Given the description of an element on the screen output the (x, y) to click on. 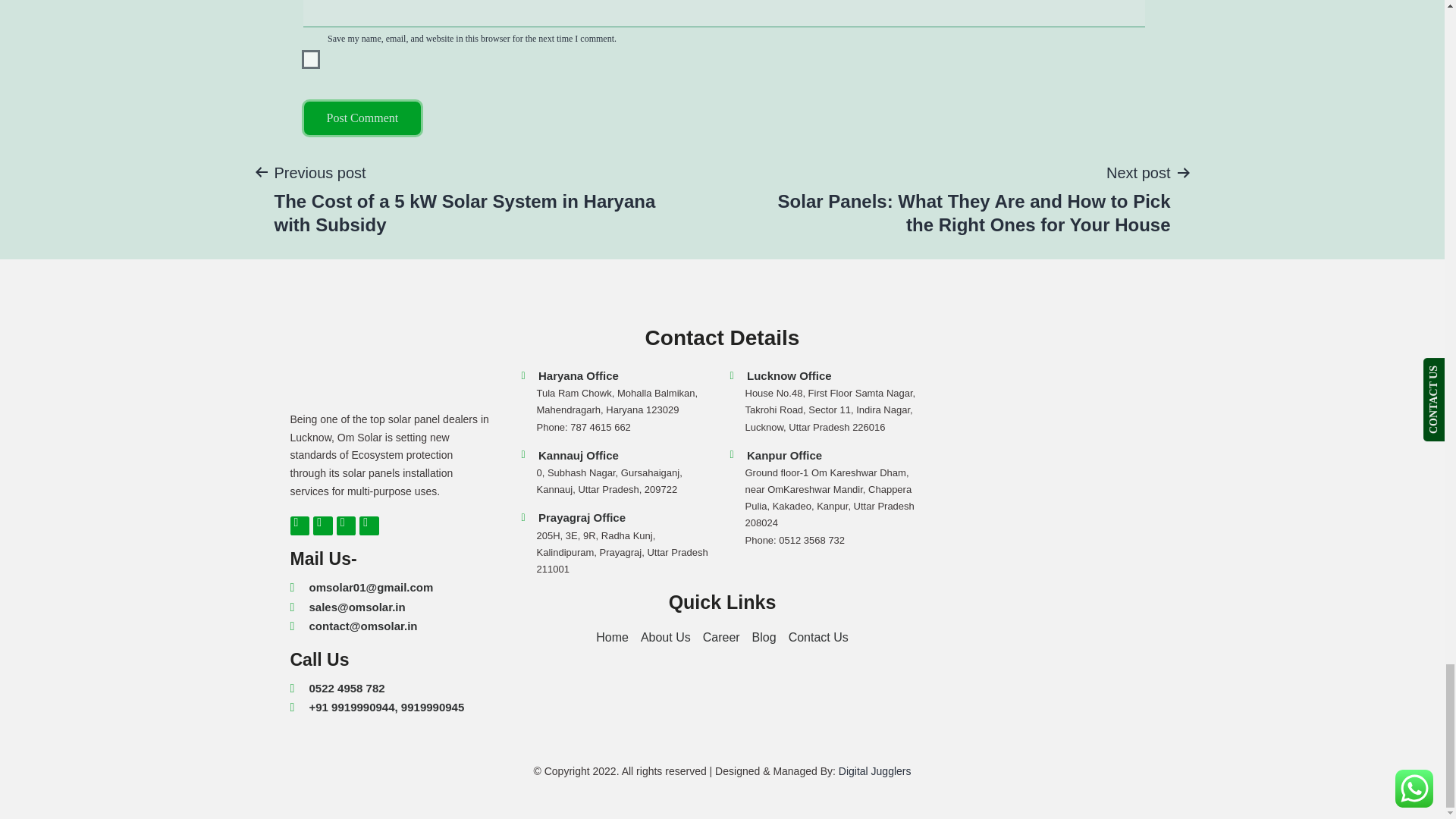
Post Comment (362, 118)
yes (310, 58)
